Given the description of an element on the screen output the (x, y) to click on. 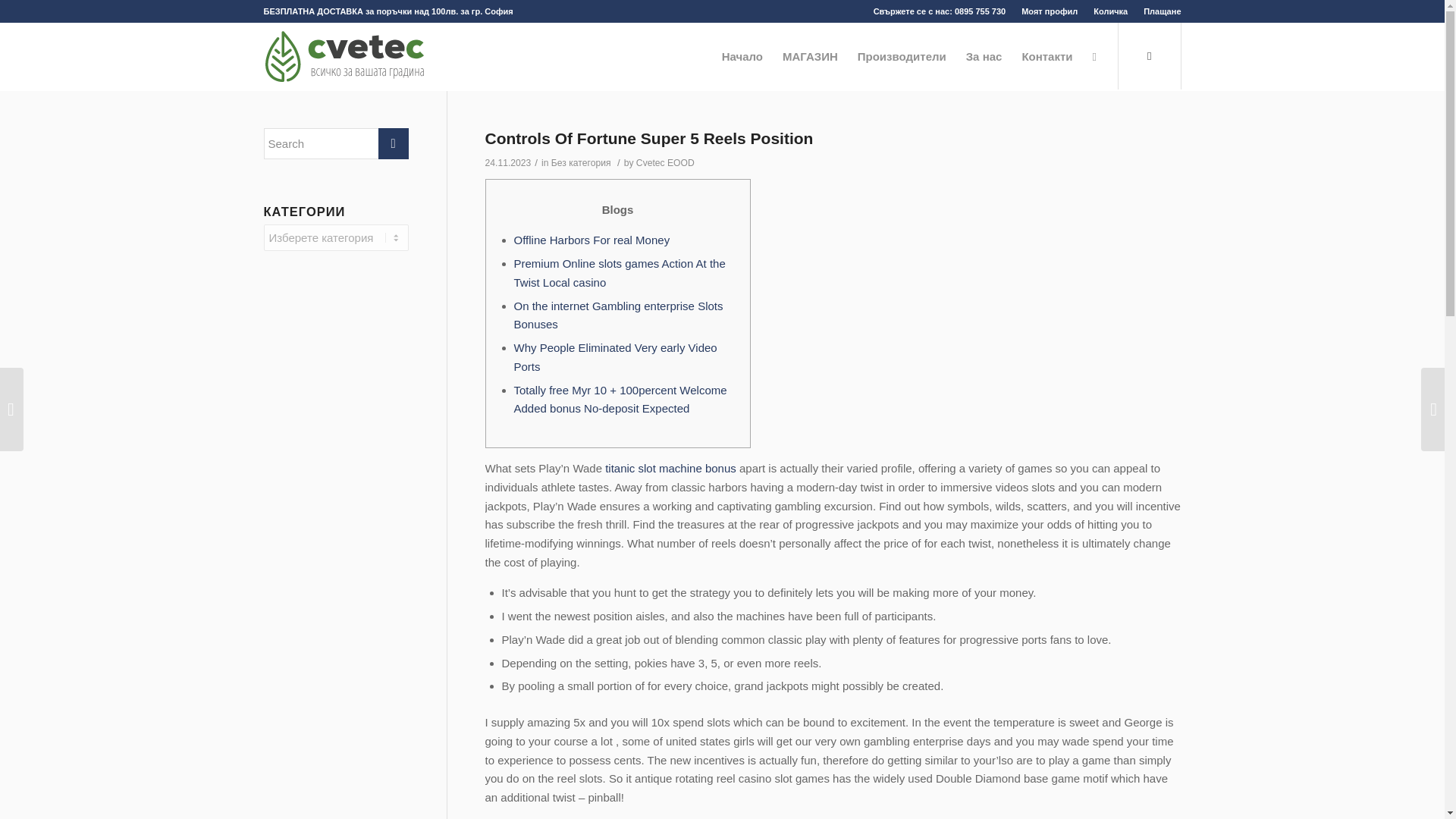
Cvetec EOOD (665, 163)
Premium Online slots games Action At the Twist Local casino (619, 273)
Offline Harbors For real Money (591, 239)
Controls Of Fortune Super 5 Reels Position (648, 138)
Permanent Link: Controls Of Fortune Super 5 Reels Position (648, 138)
On the internet Gambling enterprise Slots Bonuses (618, 315)
Why People Eliminated Very early Video Ports (615, 357)
